Given the description of an element on the screen output the (x, y) to click on. 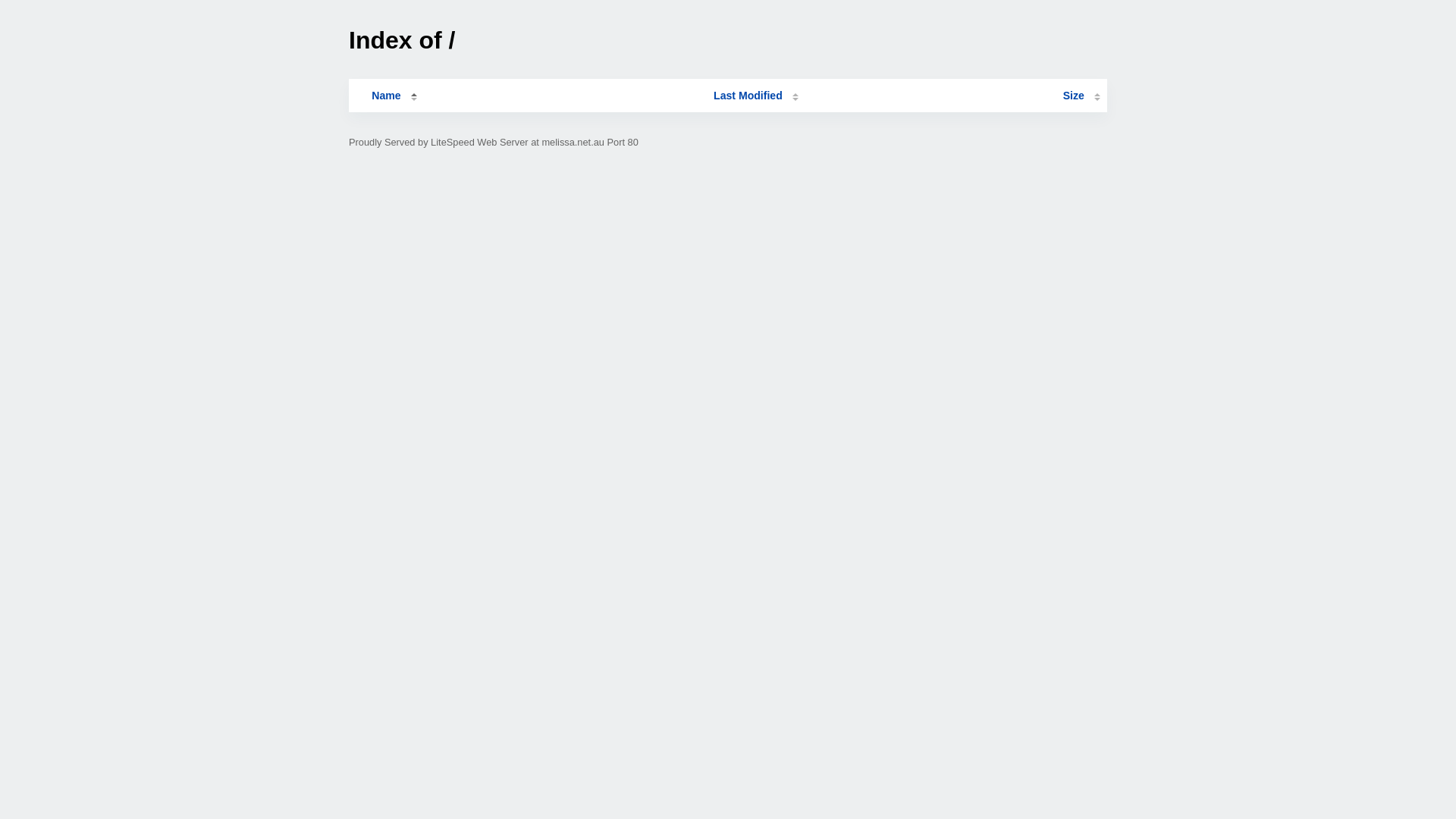
Size Element type: text (1081, 95)
Last Modified Element type: text (755, 95)
Name Element type: text (385, 95)
